Given the description of an element on the screen output the (x, y) to click on. 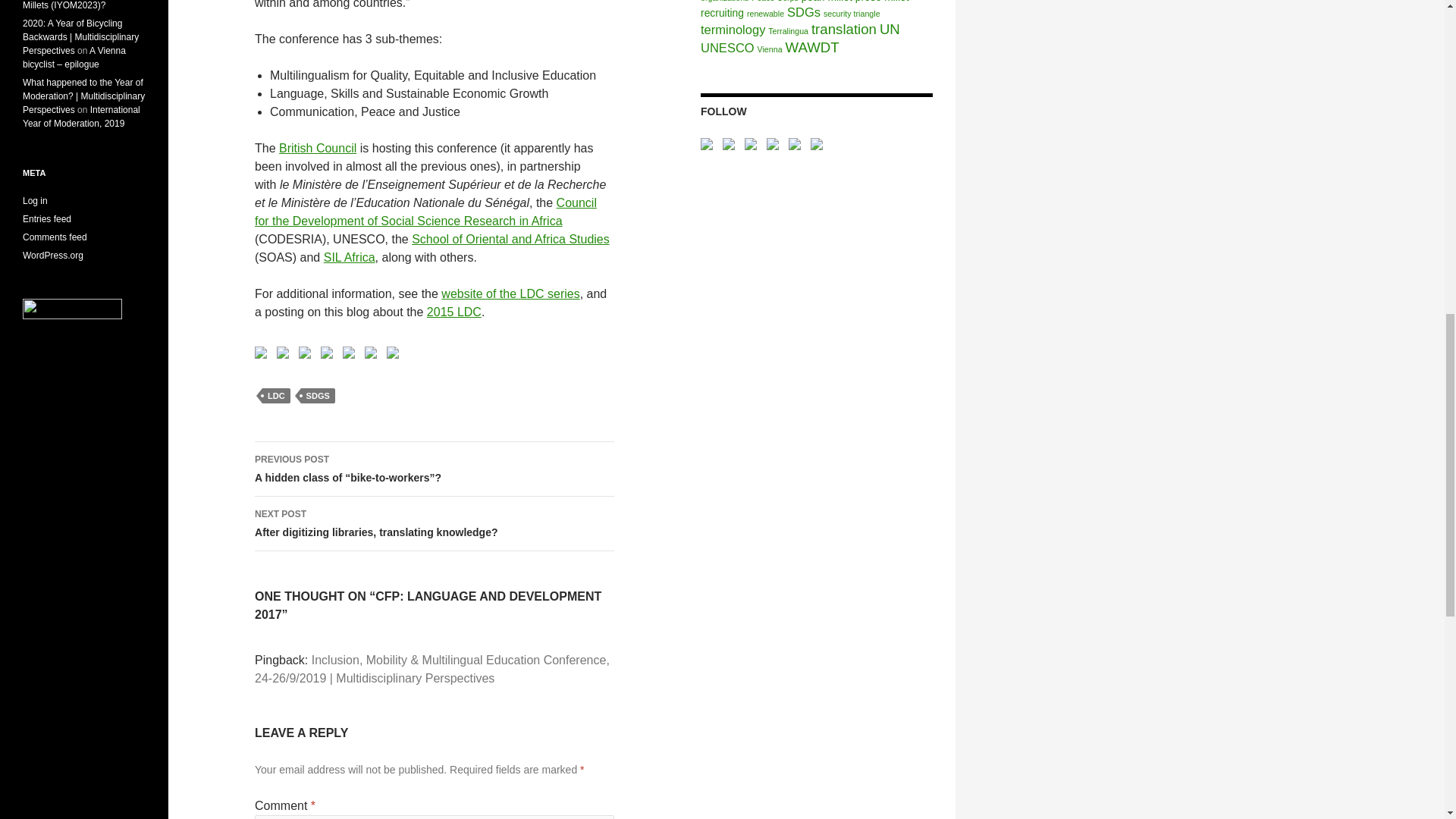
Share on Reddit (304, 352)
Share on tumblr (373, 355)
Share on tumblr (371, 352)
Share by email (395, 355)
Pin it with Pinterest (326, 352)
Share on Linkedin (348, 352)
Follow us on Facebook (709, 147)
Share on Facebook (260, 352)
Share on Reddit (307, 355)
Share on Twitter (282, 352)
